Given the description of an element on the screen output the (x, y) to click on. 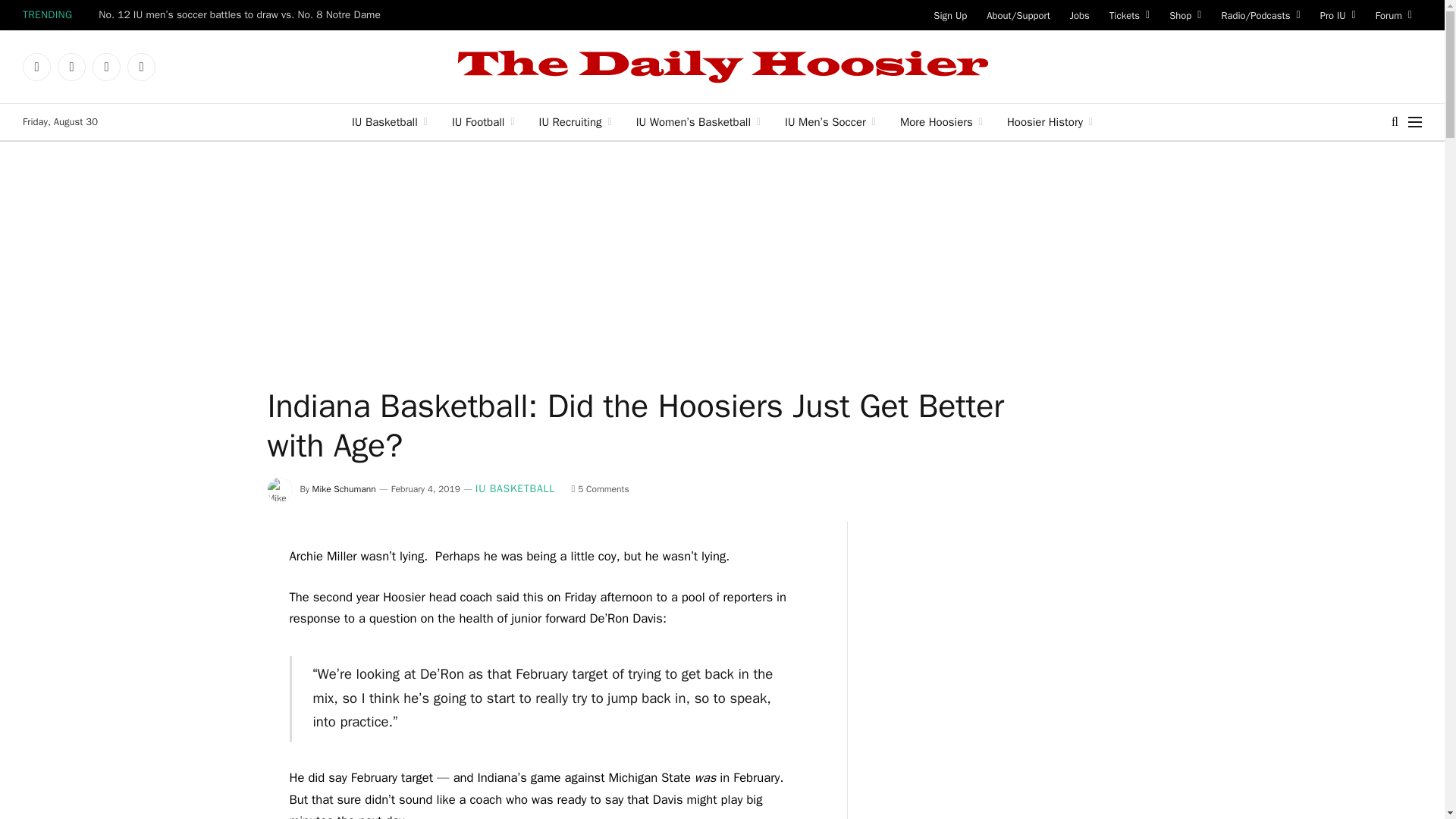
Jobs (1079, 15)
IU Basketball (389, 122)
The Daily Hoosier (722, 66)
Pro IU (1337, 15)
Sign Up (949, 15)
Forum (1393, 15)
Posts by Mike Schumann (344, 489)
Tickets (1128, 15)
Facebook (36, 67)
Instagram (106, 67)
